Given the description of an element on the screen output the (x, y) to click on. 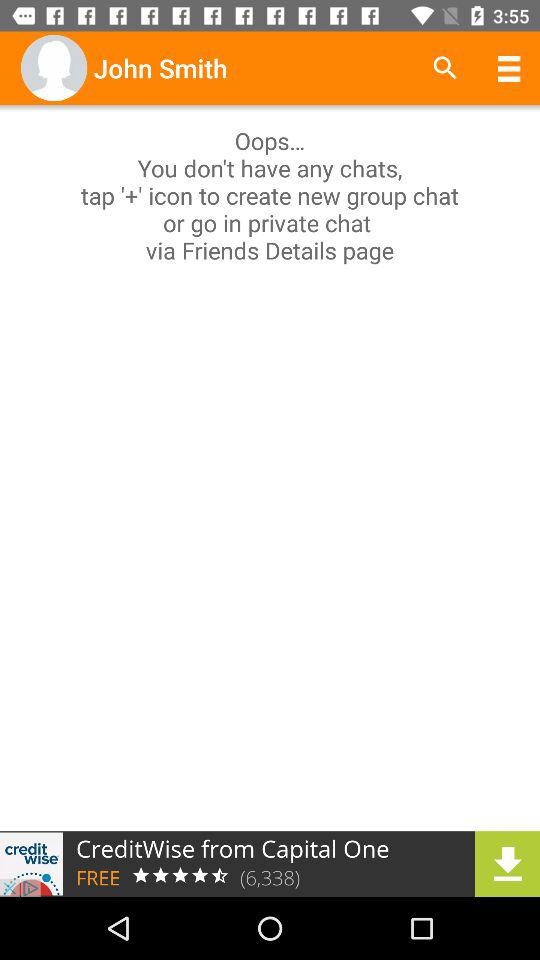
view advertisement (270, 864)
